Given the description of an element on the screen output the (x, y) to click on. 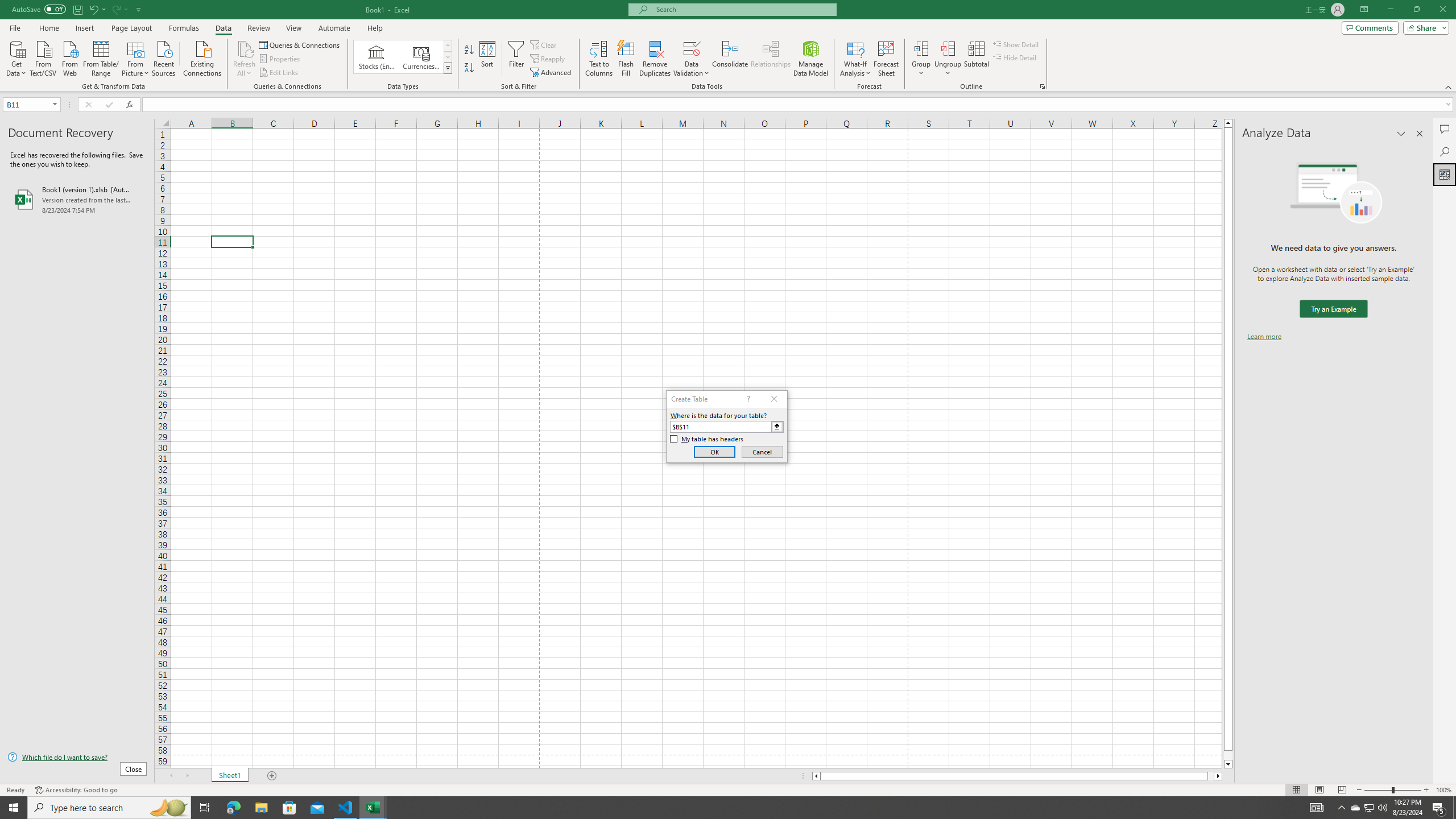
Quick Access Toolbar (77, 9)
Add Sheet (272, 775)
Line down (1228, 764)
Subtotal (976, 58)
Scroll Right (187, 775)
Analyze Data (1444, 173)
Which file do I want to save? (77, 757)
Flash Fill (625, 58)
Refresh All (244, 48)
Open (54, 104)
Home (48, 28)
Close pane (1419, 133)
Review (258, 28)
